Given the description of an element on the screen output the (x, y) to click on. 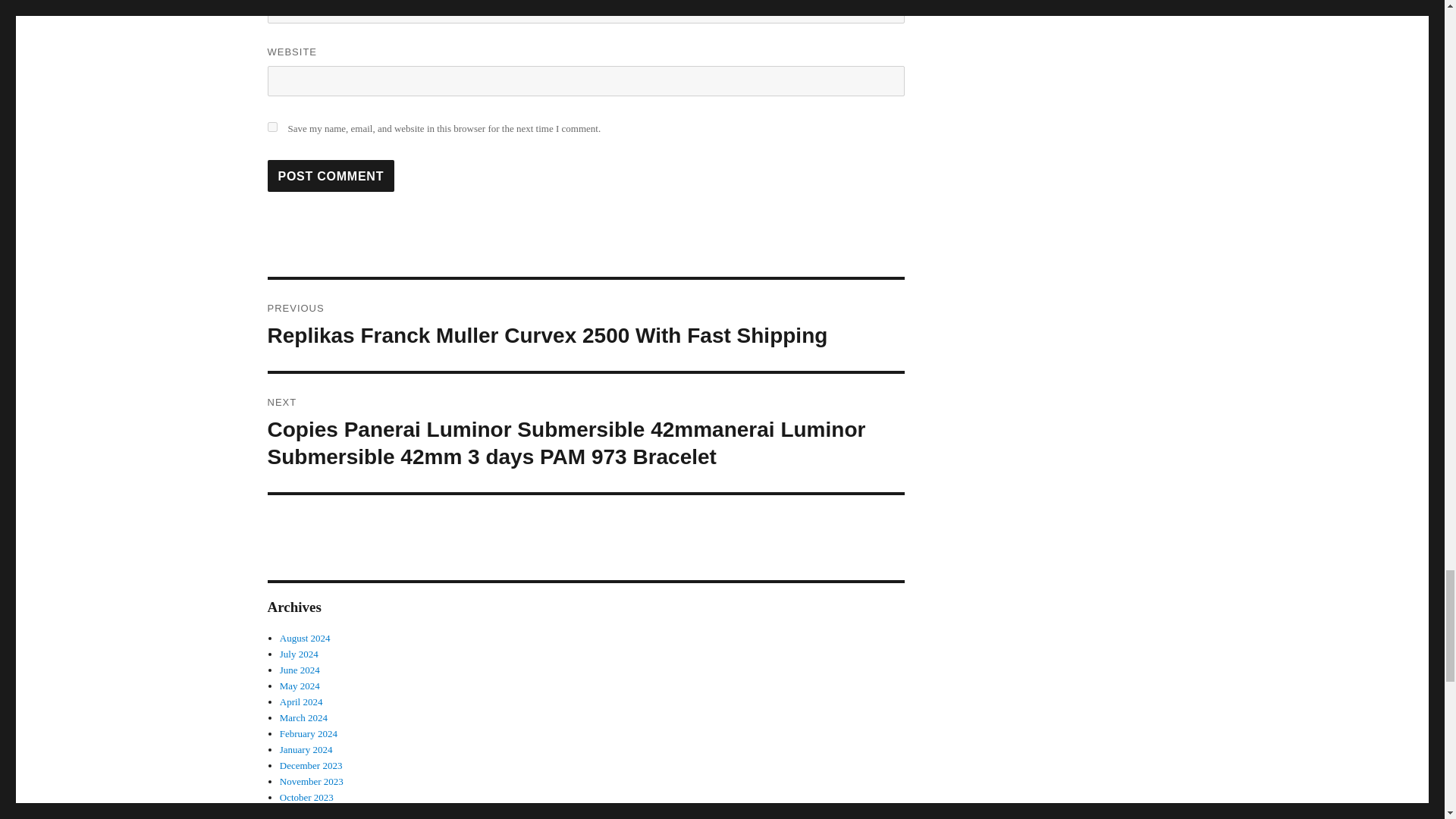
December 2023 (310, 765)
February 2024 (308, 733)
November 2023 (311, 781)
August 2024 (304, 637)
January 2024 (306, 749)
yes (271, 126)
March 2024 (303, 717)
May 2024 (299, 685)
